Given the description of an element on the screen output the (x, y) to click on. 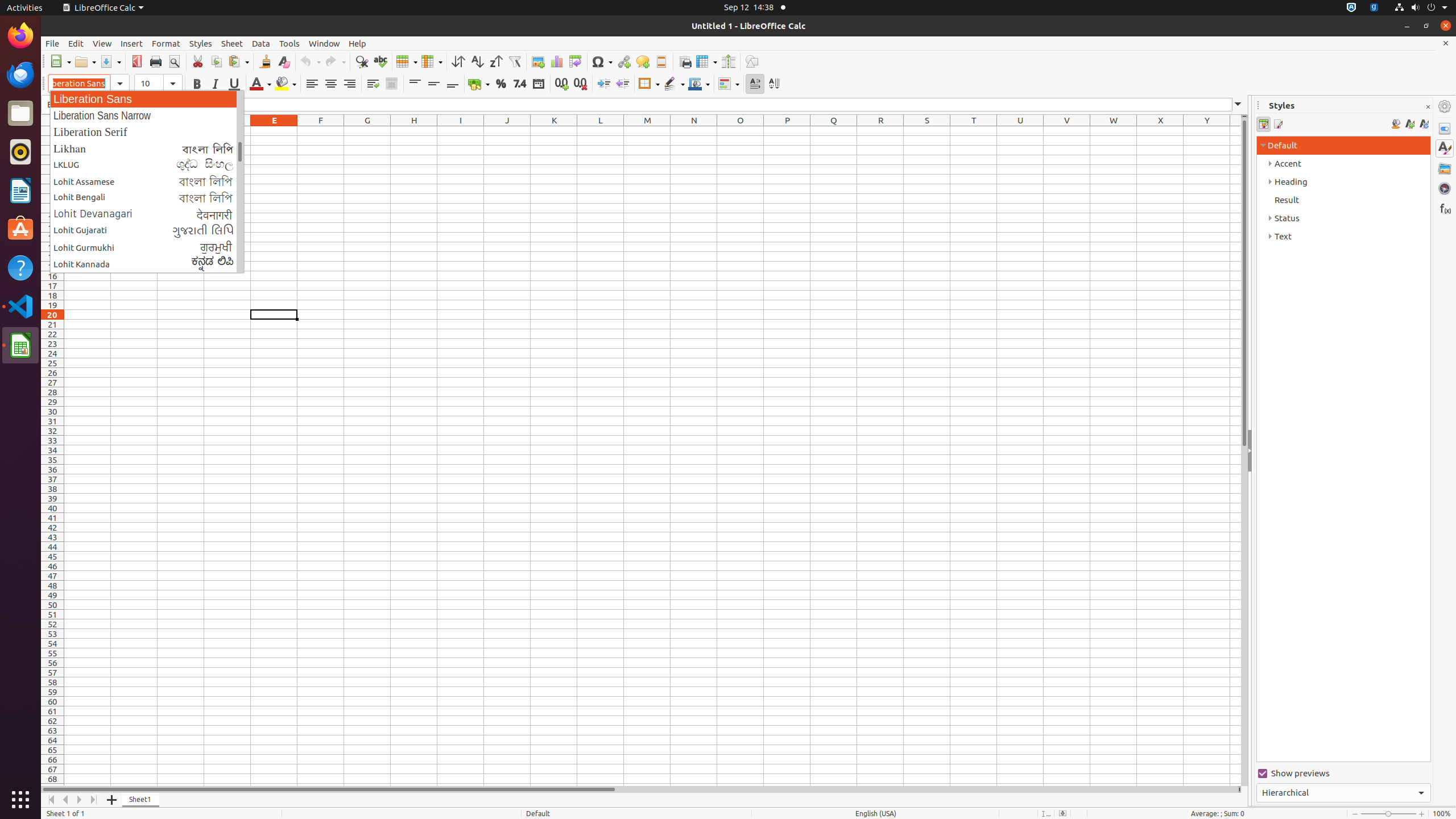
W1 Element type: table-cell (1113, 130)
O1 Element type: table-cell (740, 130)
Page Styles Element type: push-button (1277, 123)
Ubuntu Software Element type: push-button (20, 229)
G1 Element type: table-cell (367, 130)
